Given the description of an element on the screen output the (x, y) to click on. 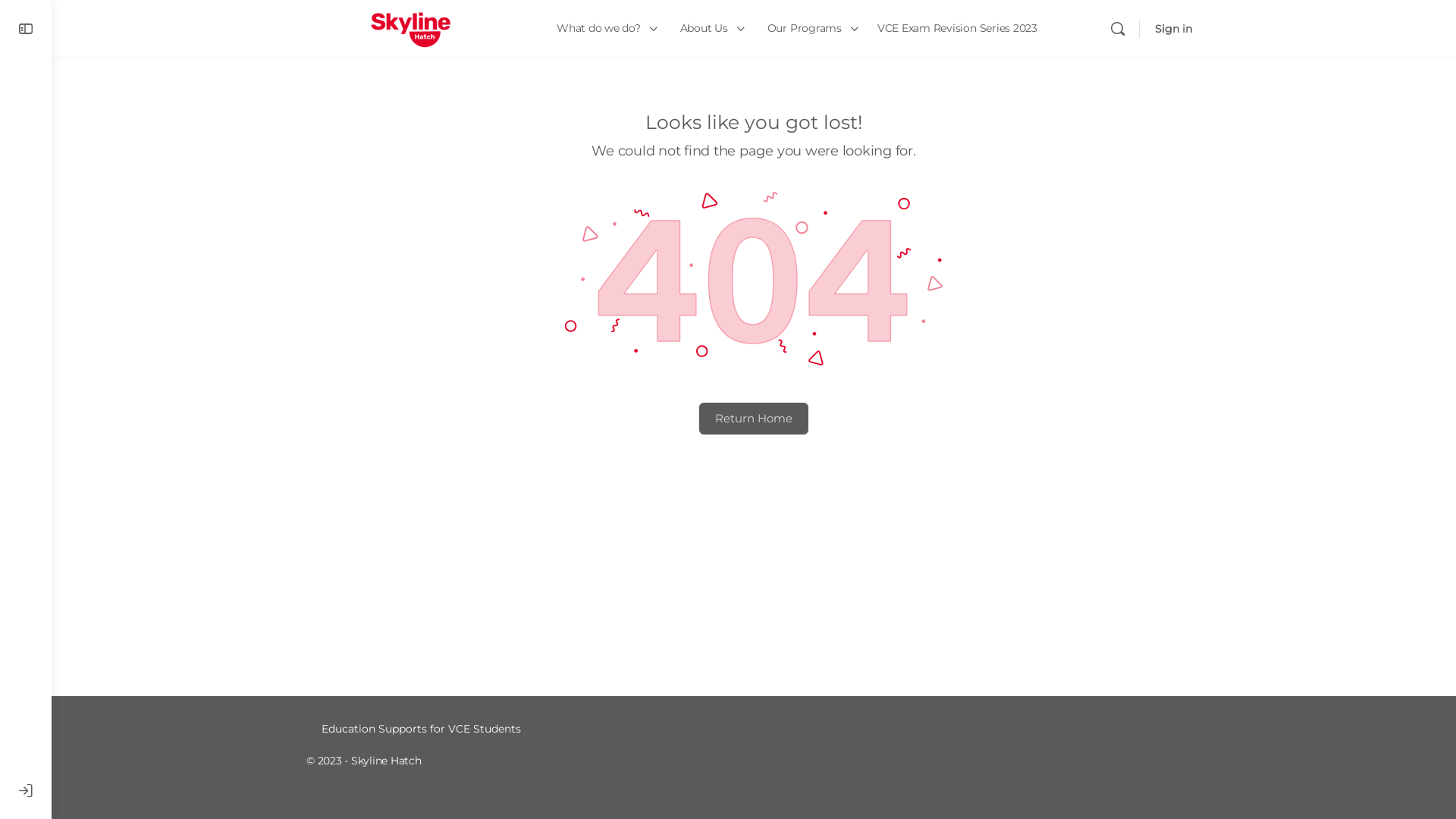
Our Programs Element type: text (810, 28)
Sign in Element type: text (1173, 28)
What do we do? Element type: text (605, 28)
About Us Element type: text (710, 28)
Return Home Element type: text (753, 418)
VCE Exam Revision Series 2023 Element type: text (956, 28)
